Given the description of an element on the screen output the (x, y) to click on. 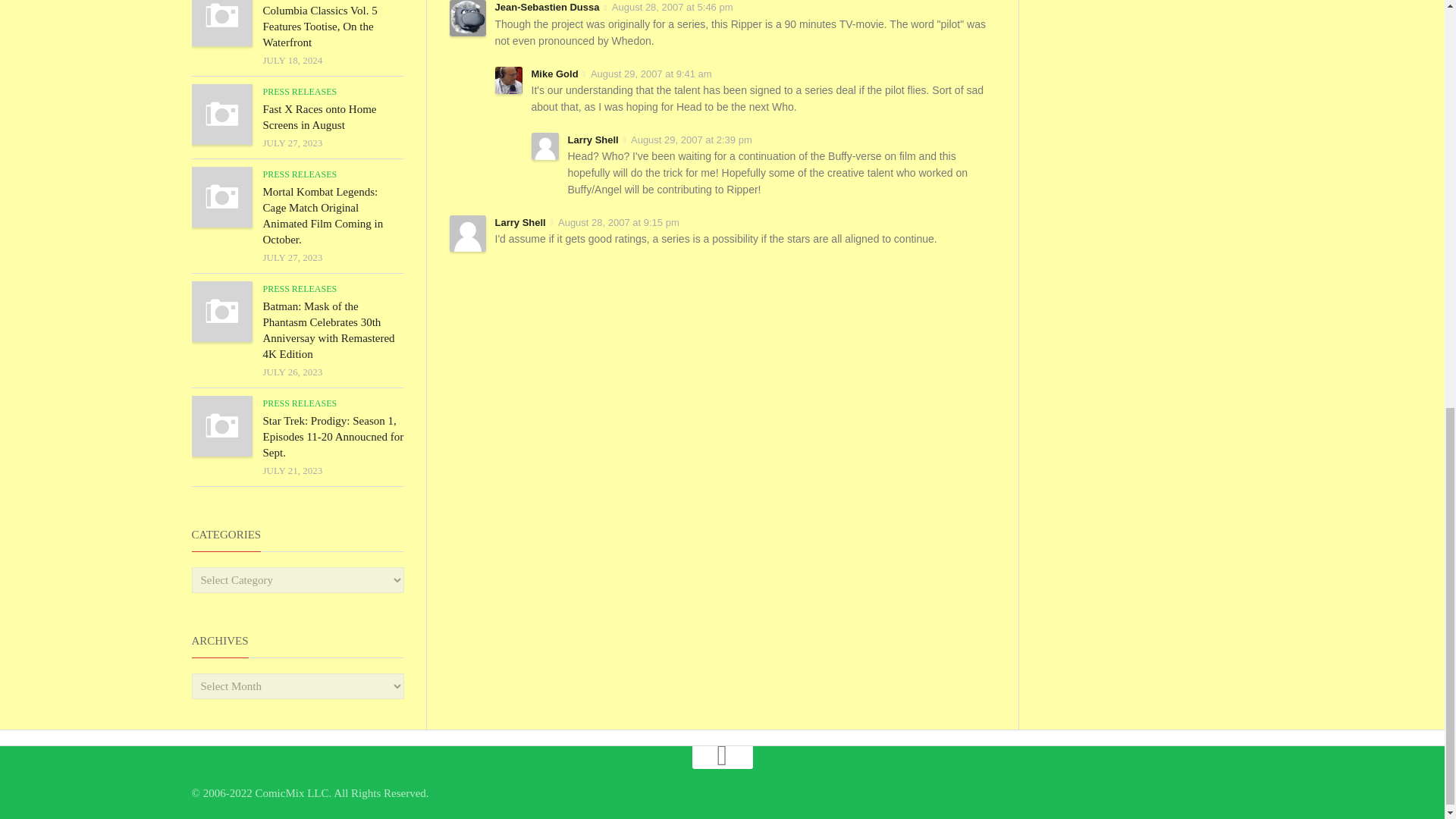
August 28, 2007 at 5:46 pm (672, 7)
August 29, 2007 at 9:41 am (651, 73)
August 28, 2007 at 9:15 pm (618, 222)
August 29, 2007 at 2:39 pm (691, 139)
